Given the description of an element on the screen output the (x, y) to click on. 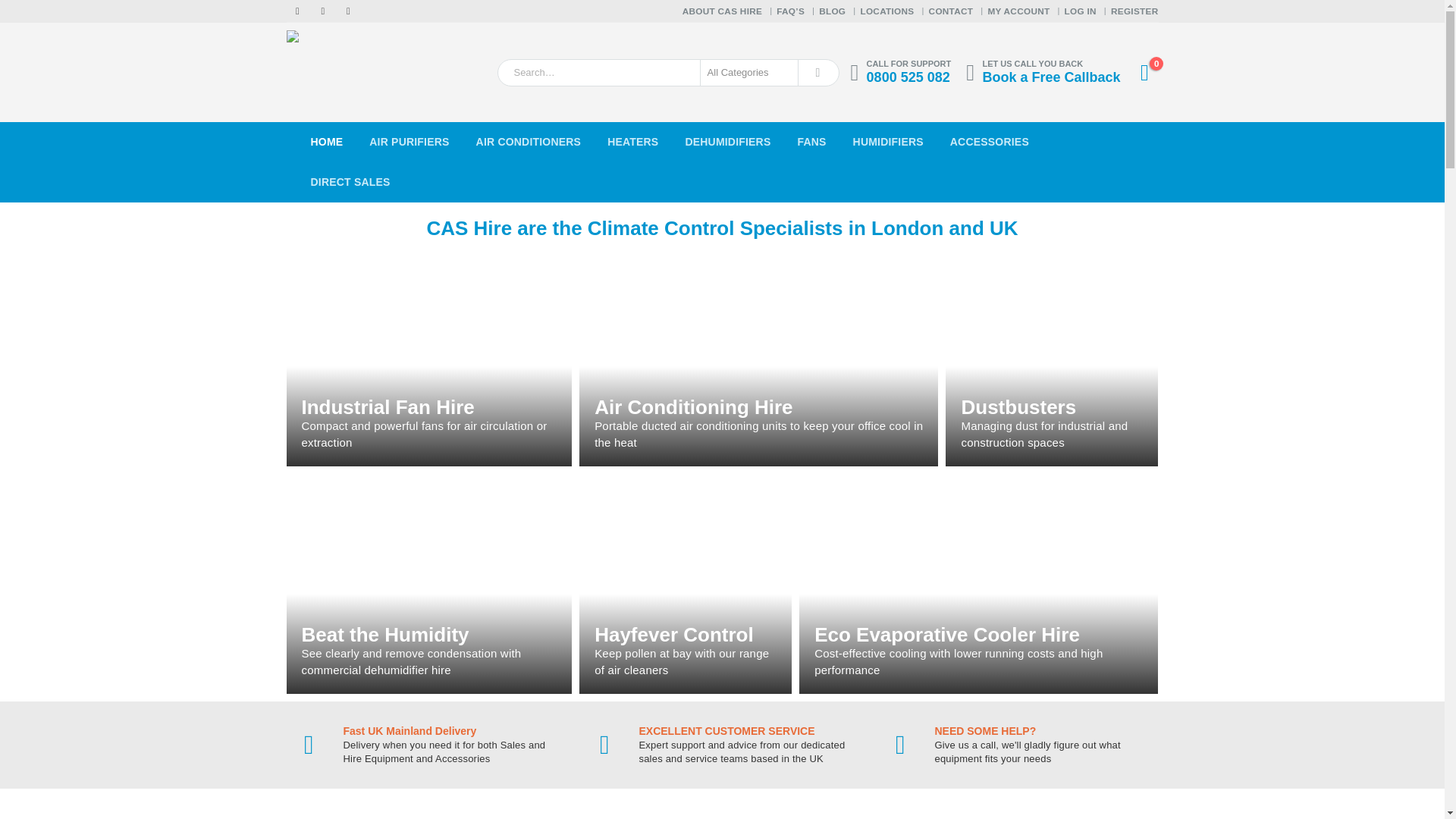
LinkedIn (347, 11)
0800 525 082 (908, 77)
Search (817, 71)
Facebook (296, 11)
HOME (326, 142)
BLOG (833, 11)
AIR CONDITIONERS (528, 142)
REGISTER (1133, 11)
LOG IN (1082, 11)
Twitter (323, 11)
